Given the description of an element on the screen output the (x, y) to click on. 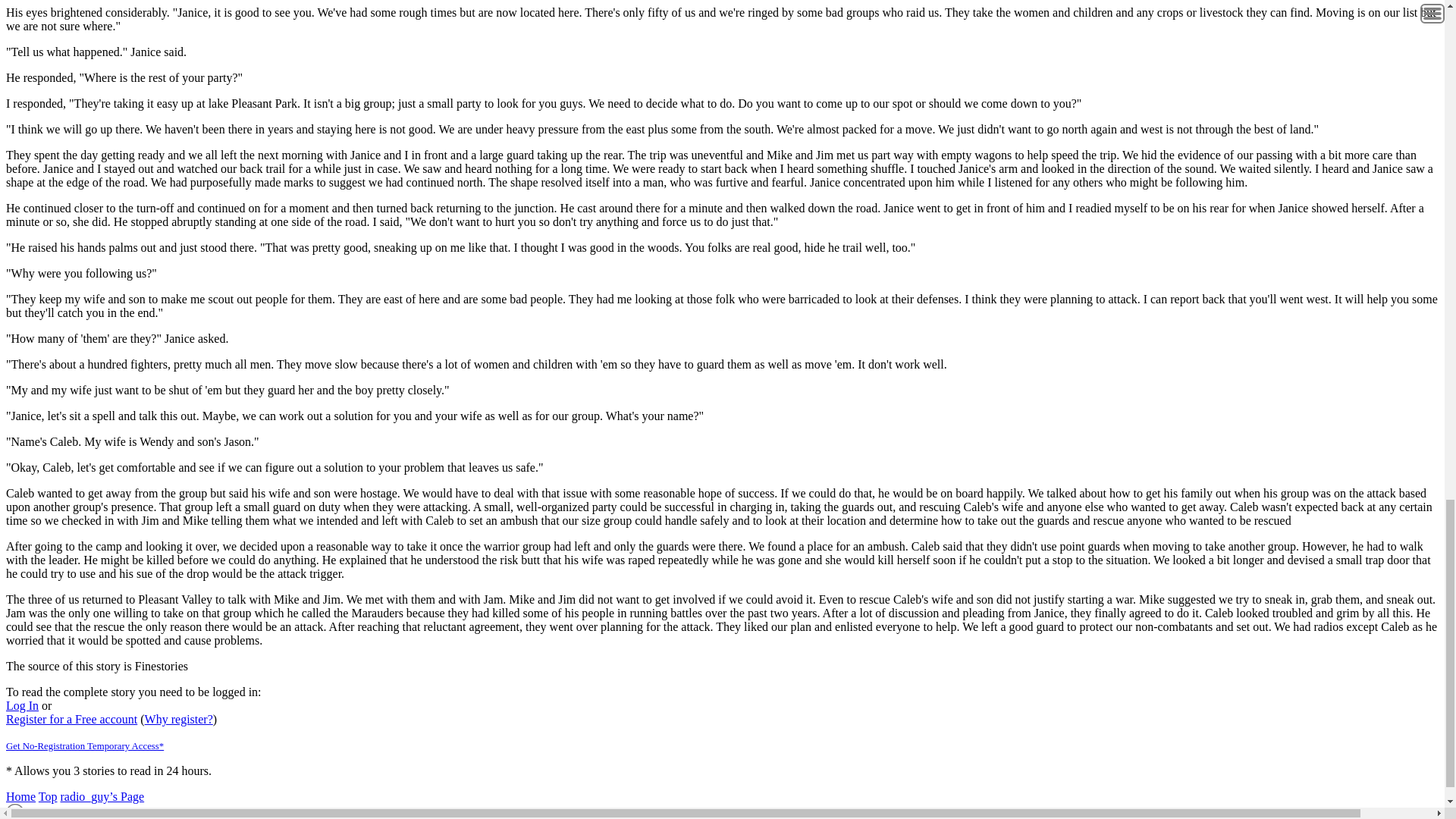
Why register? (178, 718)
Register for a Free account (70, 718)
Top (48, 796)
Home (19, 796)
Log In (22, 705)
